Given the description of an element on the screen output the (x, y) to click on. 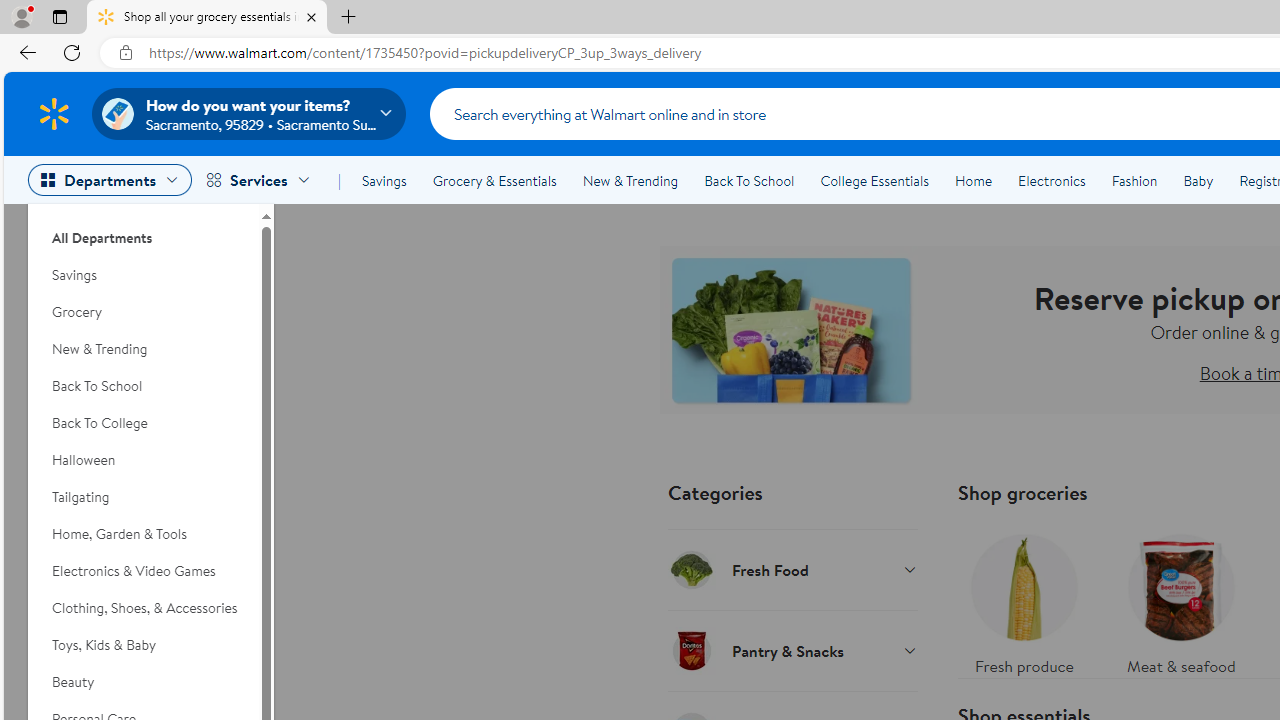
Back To College (143, 423)
Fashion (1134, 180)
Toys, Kids & Baby (143, 645)
Back To School (749, 180)
Tailgating (143, 497)
New & Trending (143, 349)
Fresh produce (1023, 599)
Shop all your grocery essentials in one place! - Walmart.com (207, 17)
Savings (143, 275)
New & Trending (630, 180)
Tailgating (143, 497)
